Given the description of an element on the screen output the (x, y) to click on. 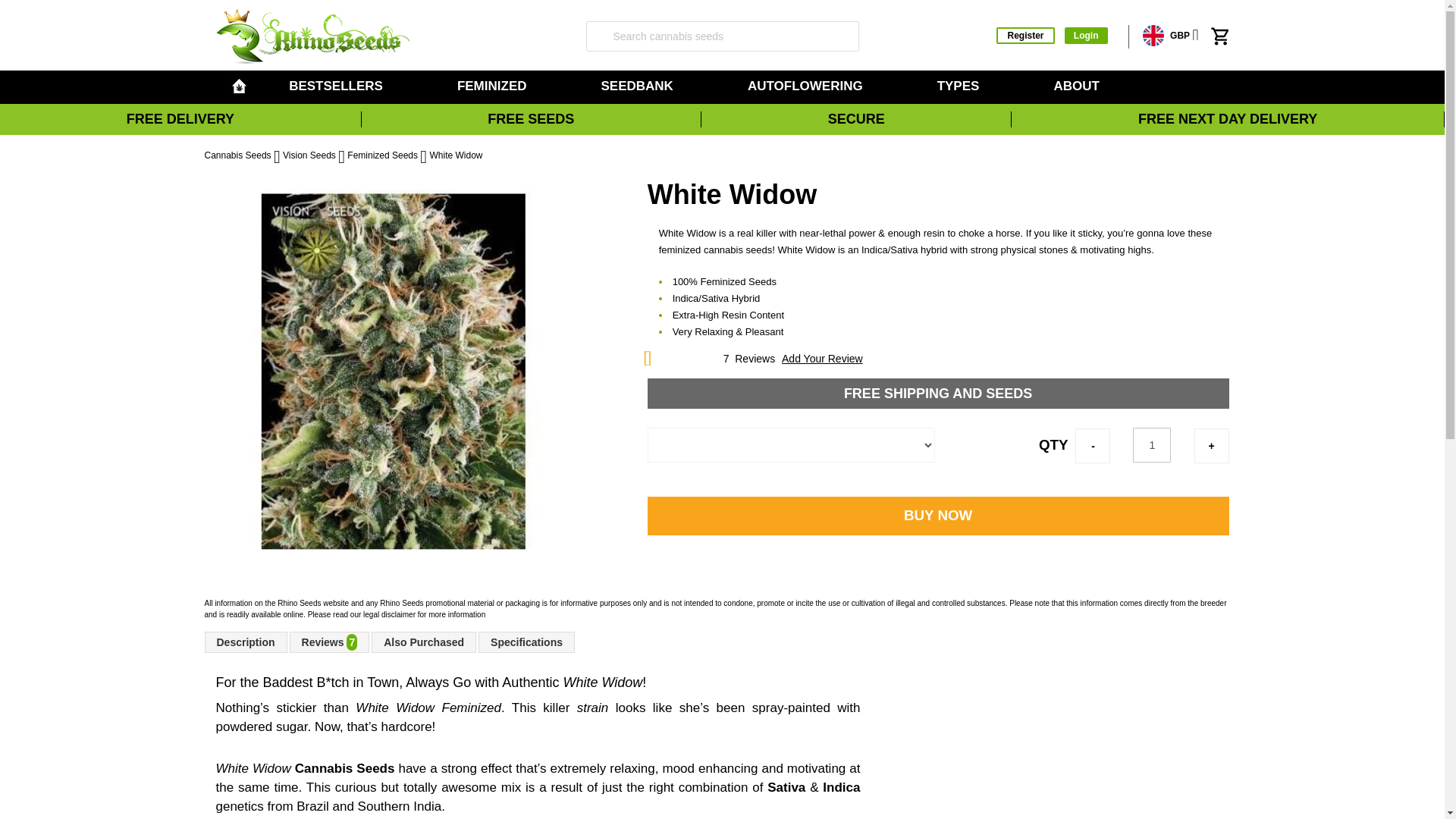
home (238, 85)
FEMINIZED (494, 87)
1 (1151, 444)
Feminized Seeds (494, 87)
Login (1086, 35)
SEEDBANK (639, 87)
BESTSELLERS (338, 87)
Best Selling Cannabis Seeds (338, 87)
Register (1024, 35)
